Given the description of an element on the screen output the (x, y) to click on. 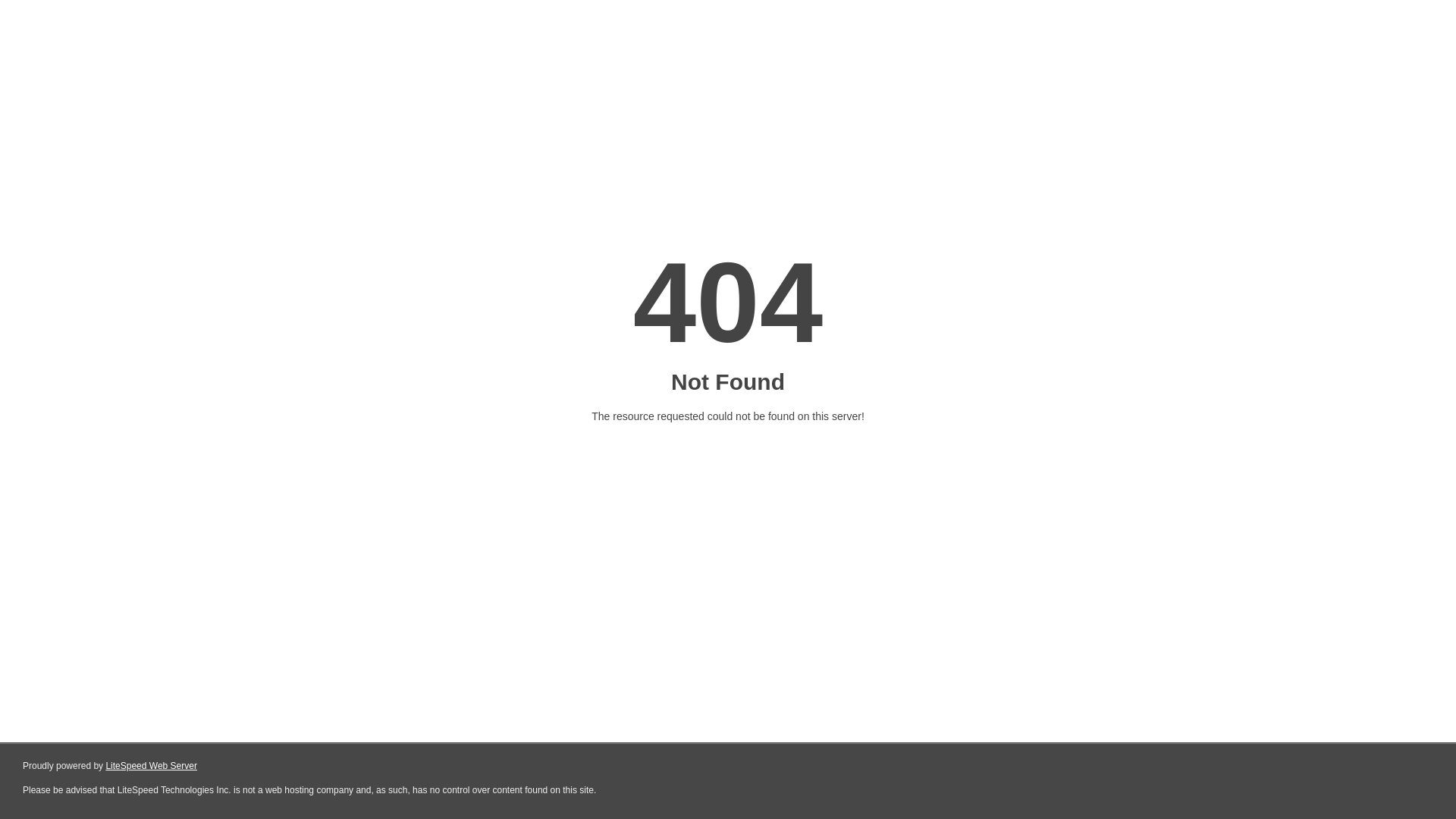
LiteSpeed Web Server Element type: text (151, 765)
